Given the description of an element on the screen output the (x, y) to click on. 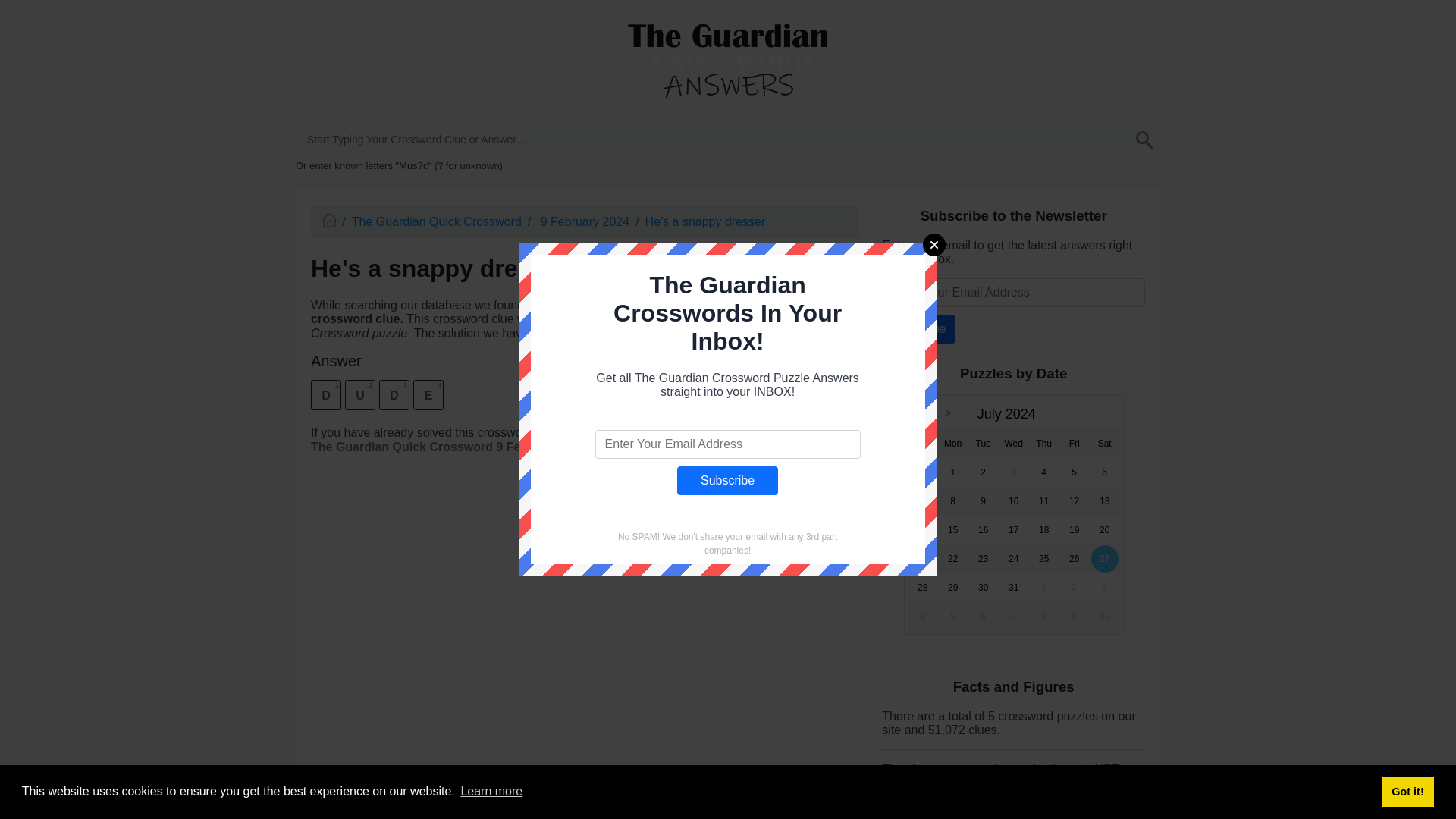
He's a snappy dresser (705, 221)
Subscribe (918, 328)
9 February 2024 (582, 221)
Close (933, 244)
The Guardian Quick Crossword (436, 221)
The Guardian Quick Crossword 9 February 2024 Answers (476, 446)
Subscribe (727, 480)
Learn more (491, 791)
Subscribe (918, 328)
Subscribe (727, 480)
Got it! (1407, 791)
Mesh (896, 817)
